Given the description of an element on the screen output the (x, y) to click on. 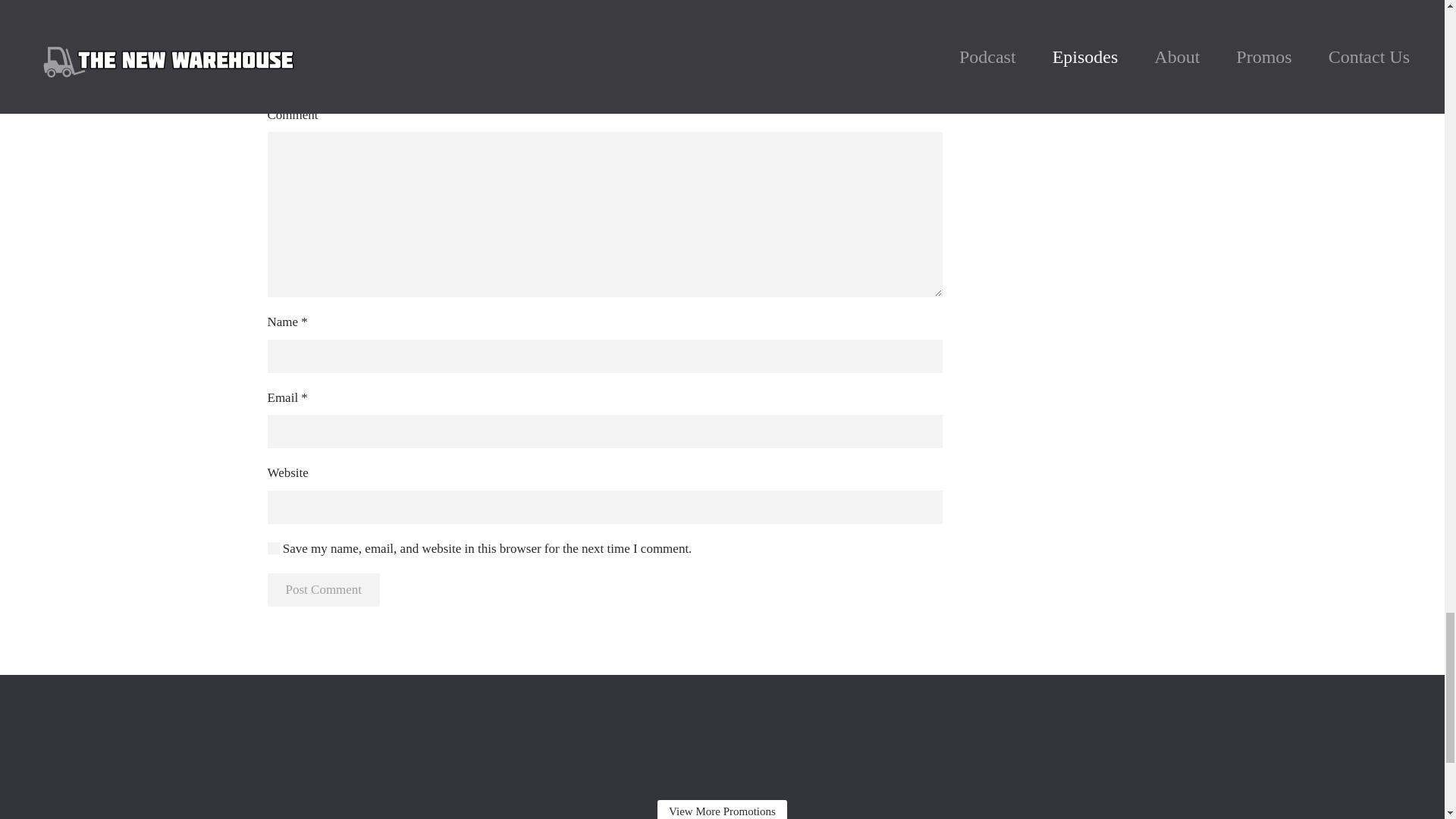
Rufus Web Ad (722, 736)
yes (272, 548)
